Given the description of an element on the screen output the (x, y) to click on. 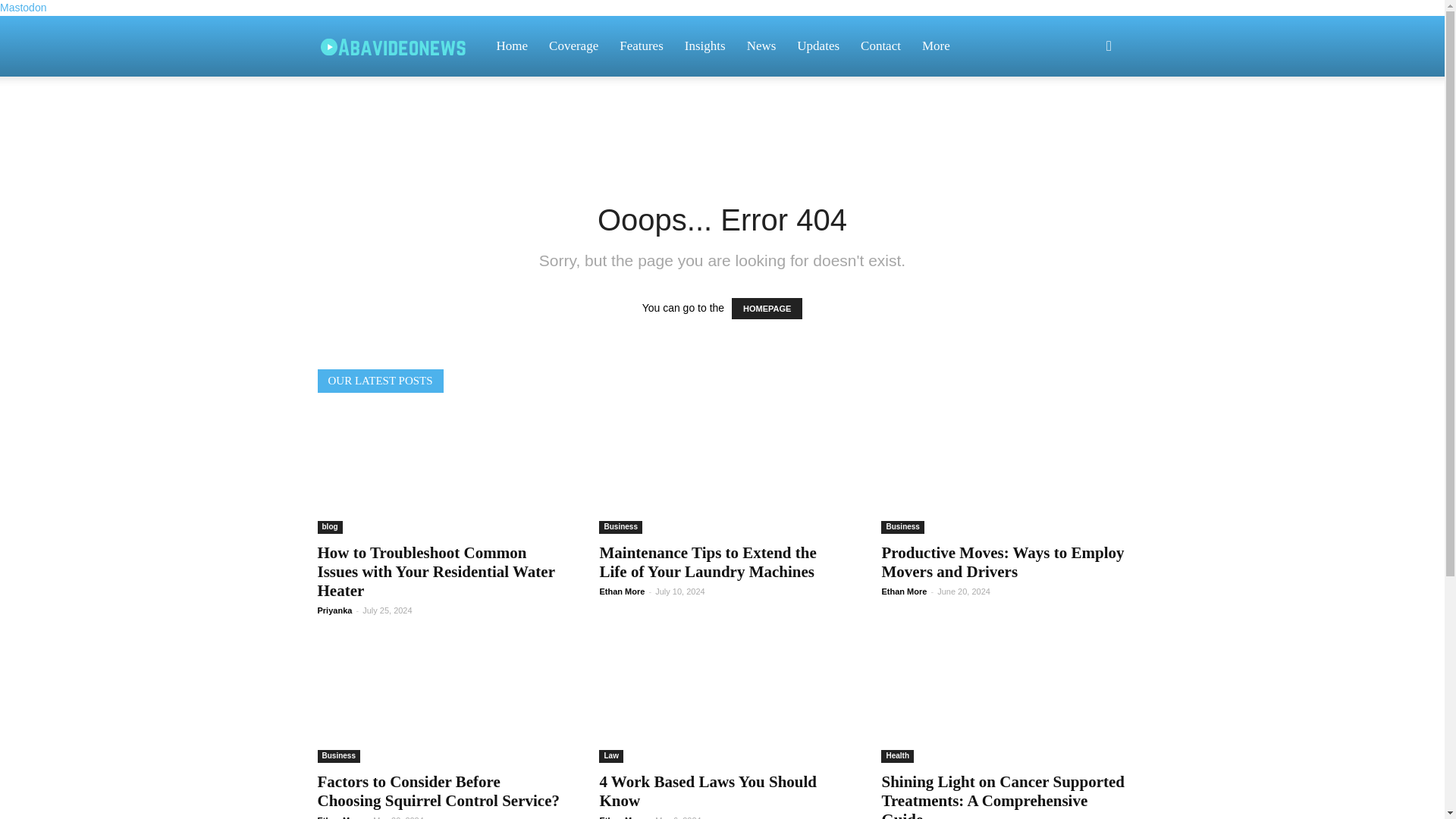
Contact (880, 45)
ABA Video News (400, 45)
Maintenance Tips to Extend the Life of Your Laundry Machines (721, 472)
blog (329, 526)
Search (1085, 119)
Updates (818, 45)
Productive Moves: Ways to Employ Movers and Drivers (1002, 561)
Mastodon (23, 7)
